Given the description of an element on the screen output the (x, y) to click on. 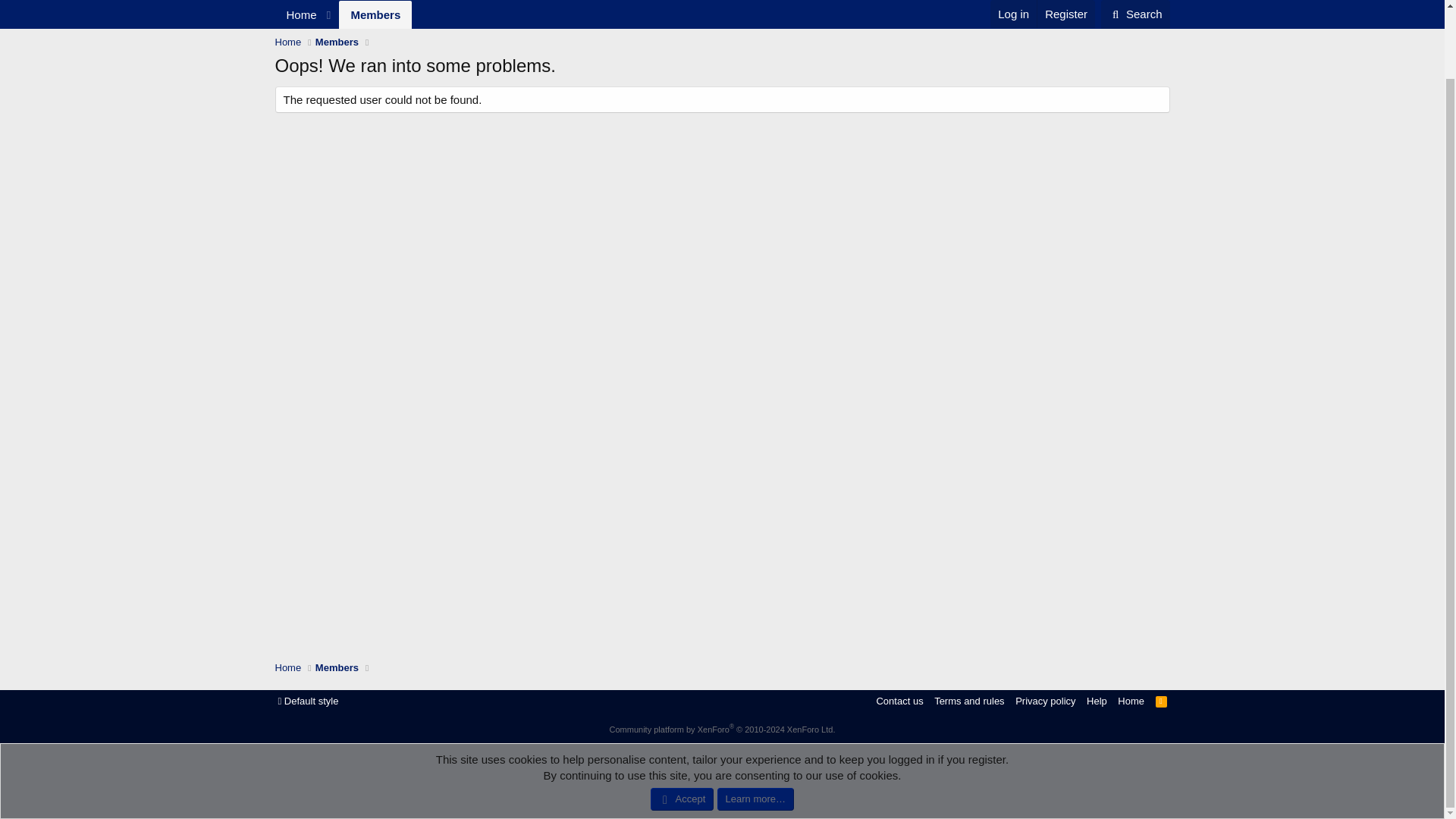
Accept (681, 722)
Members (375, 2)
Help (1096, 700)
Register (720, 32)
Search (1065, 1)
Privacy policy (1135, 2)
RSS (1044, 700)
Search (1161, 700)
Log in (1135, 2)
Home (1013, 1)
Contact us (288, 667)
Terms and rules (899, 700)
New profile posts (969, 700)
